Given the description of an element on the screen output the (x, y) to click on. 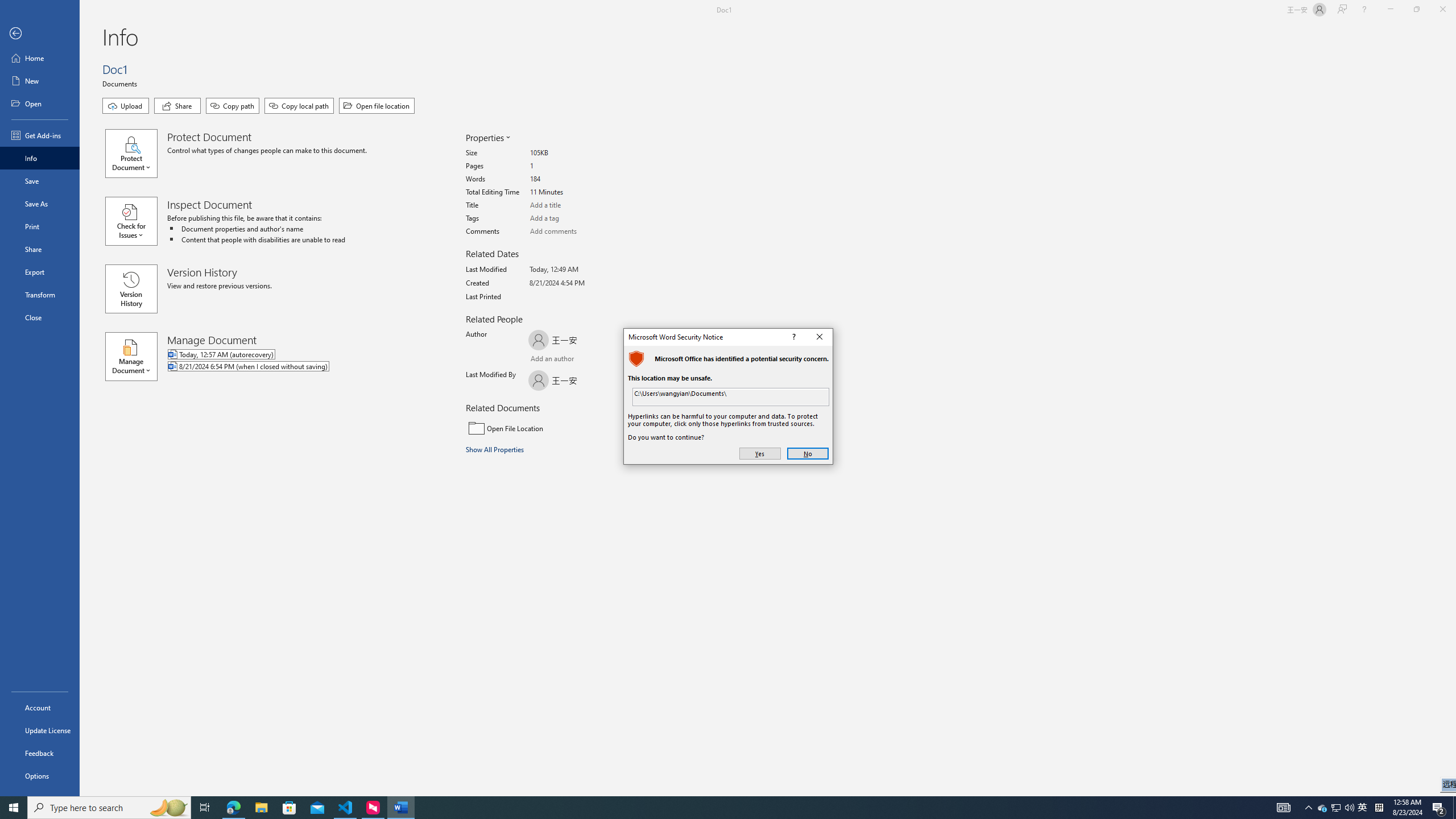
Tags (572, 218)
Info (40, 157)
Running applications (700, 807)
